Given the description of an element on the screen output the (x, y) to click on. 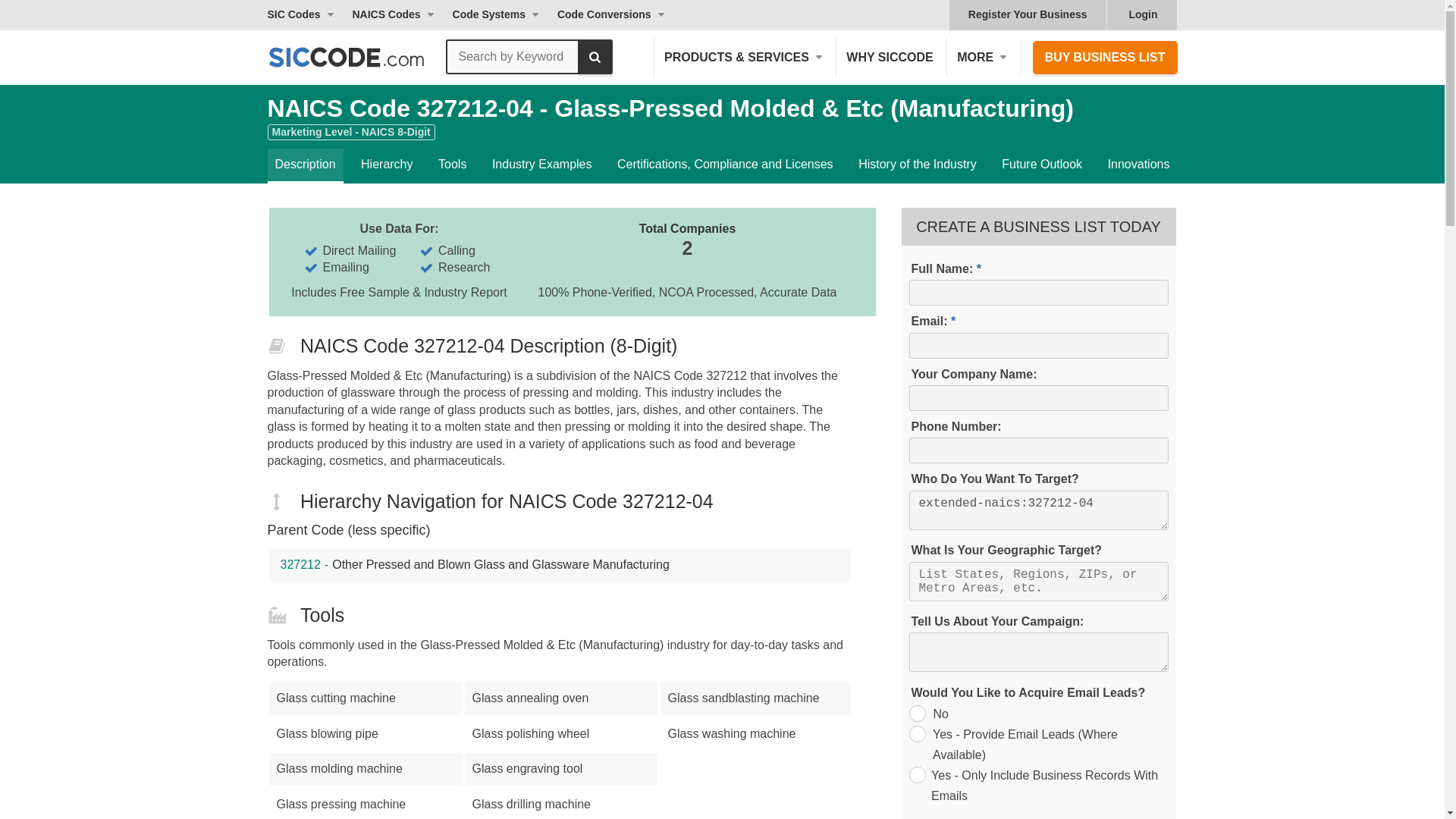
SEARCH (595, 56)
Yes, Only With Emails (915, 774)
No (916, 713)
SEARCH (595, 56)
Yes, where available (916, 733)
